Given the description of an element on the screen output the (x, y) to click on. 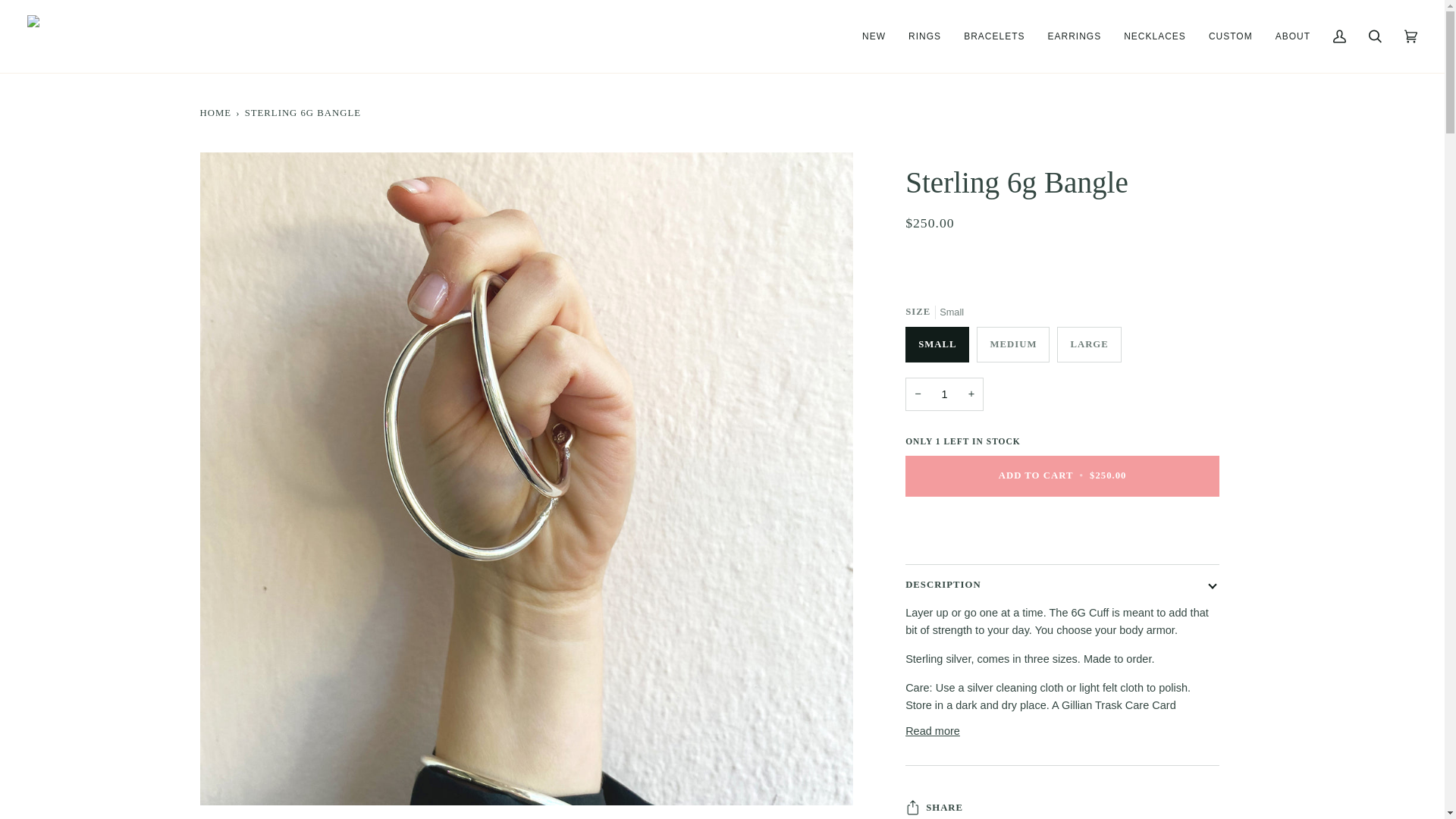
NECKLACES (1154, 36)
CUSTOM (1229, 36)
BRACELETS (993, 36)
Back to the frontpage (216, 112)
EARRINGS (1073, 36)
1 (944, 394)
